Given the description of an element on the screen output the (x, y) to click on. 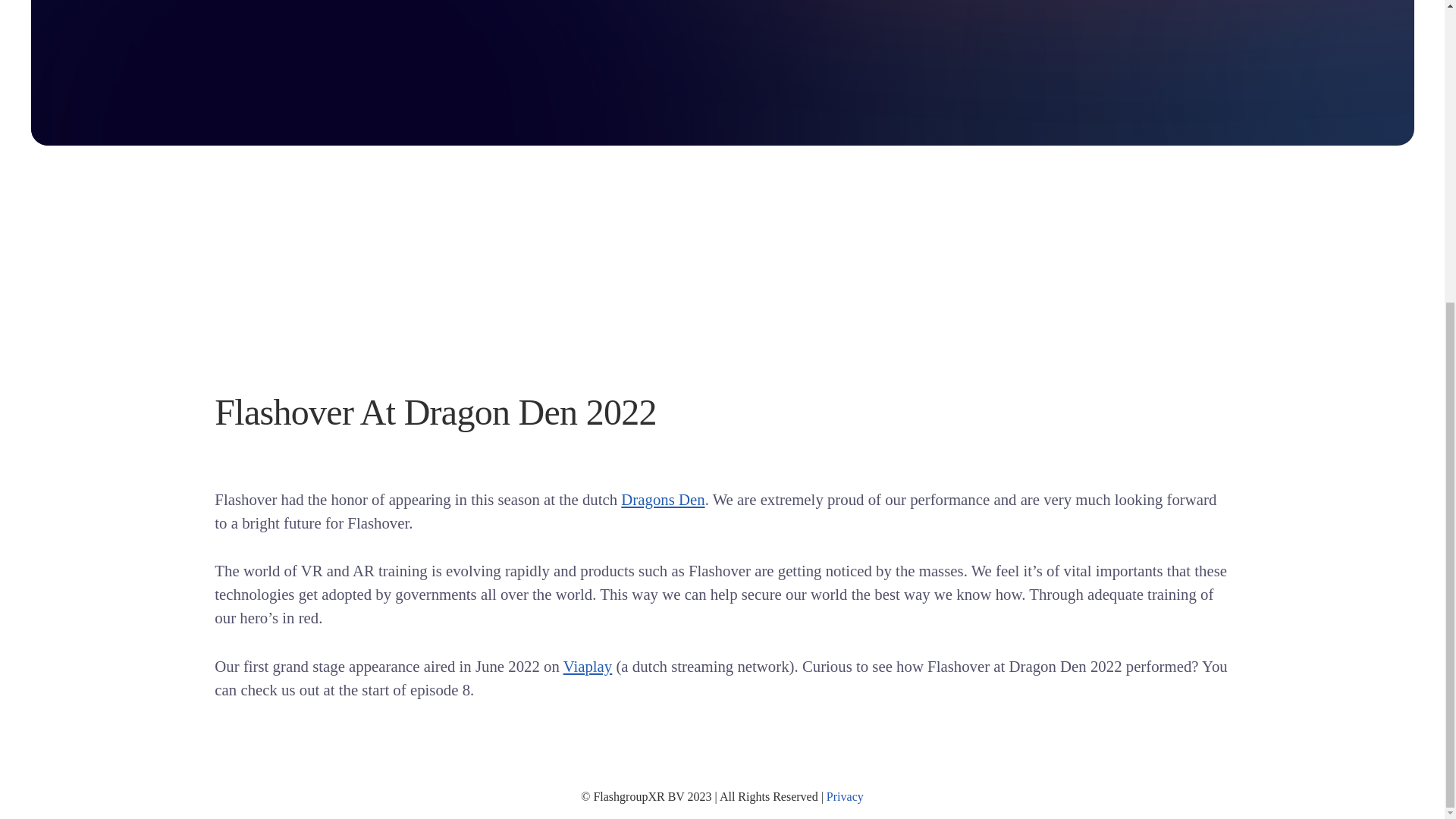
Flashover-dragons-den (959, 24)
